Given the description of an element on the screen output the (x, y) to click on. 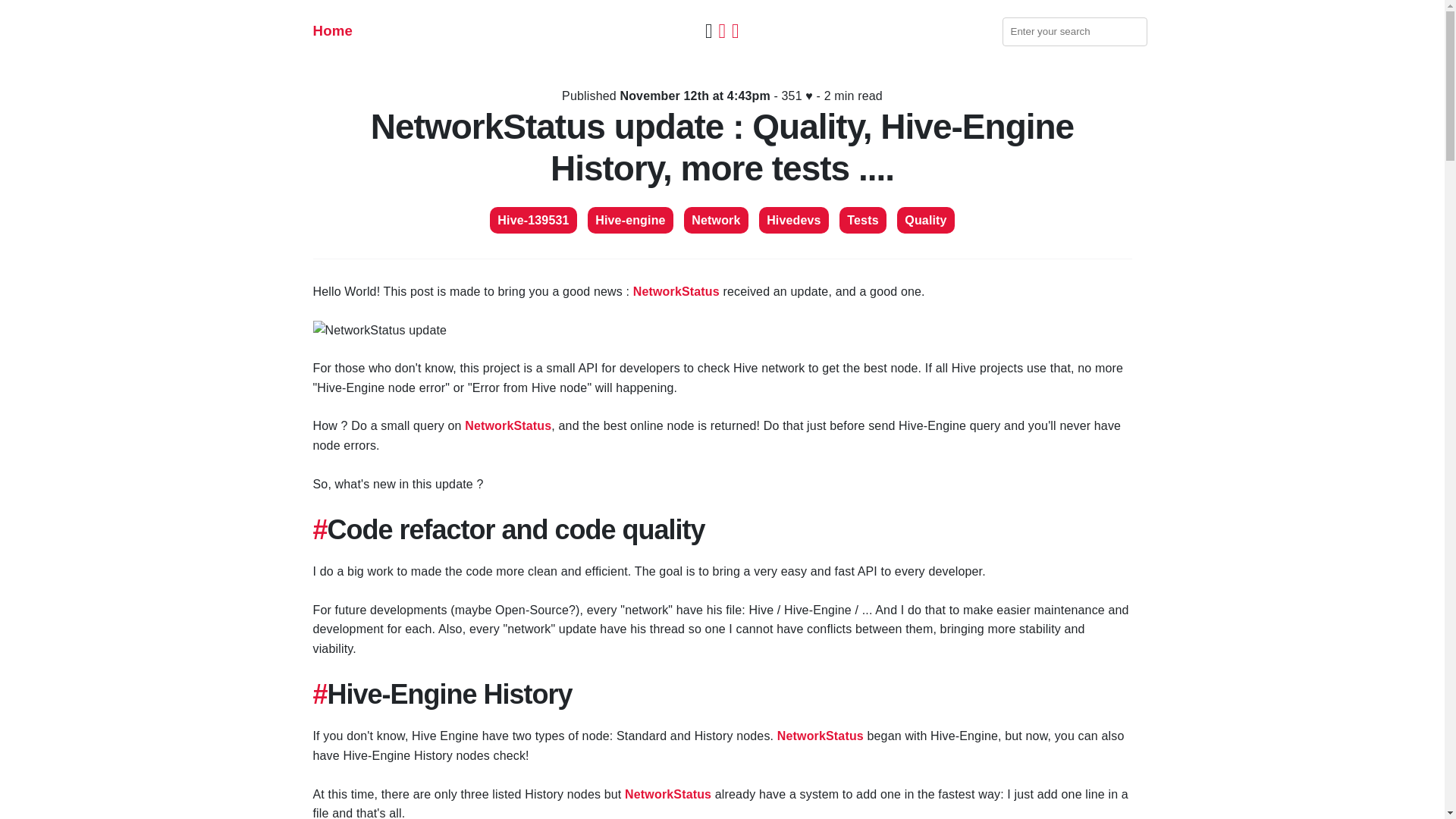
Social networks (722, 31)
NetworkStatus (676, 291)
Home (332, 30)
NetworkStatus (820, 735)
NetworkStatus (667, 793)
NetworkStatus (507, 425)
